Given the description of an element on the screen output the (x, y) to click on. 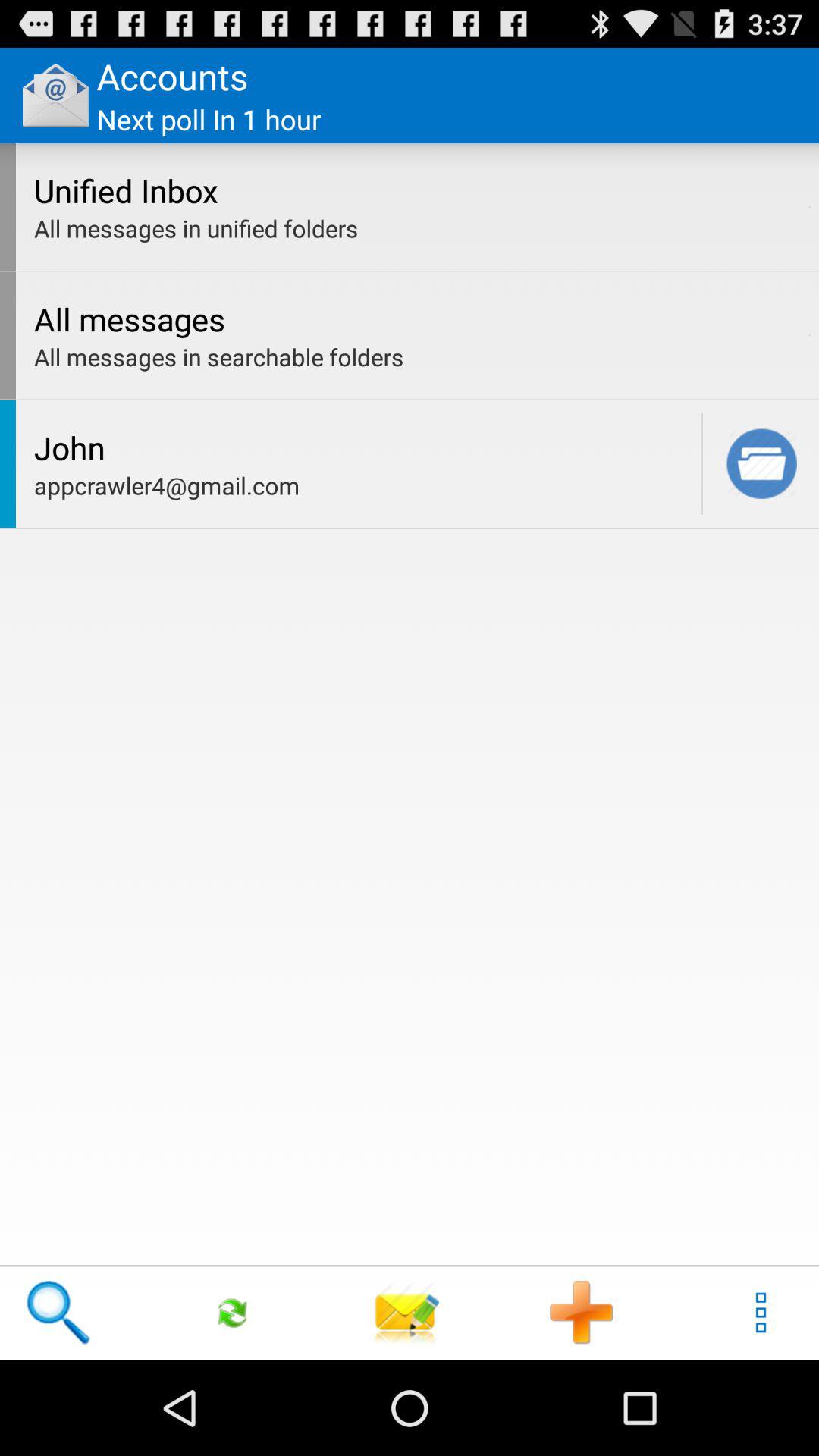
launch john (363, 447)
